Given the description of an element on the screen output the (x, y) to click on. 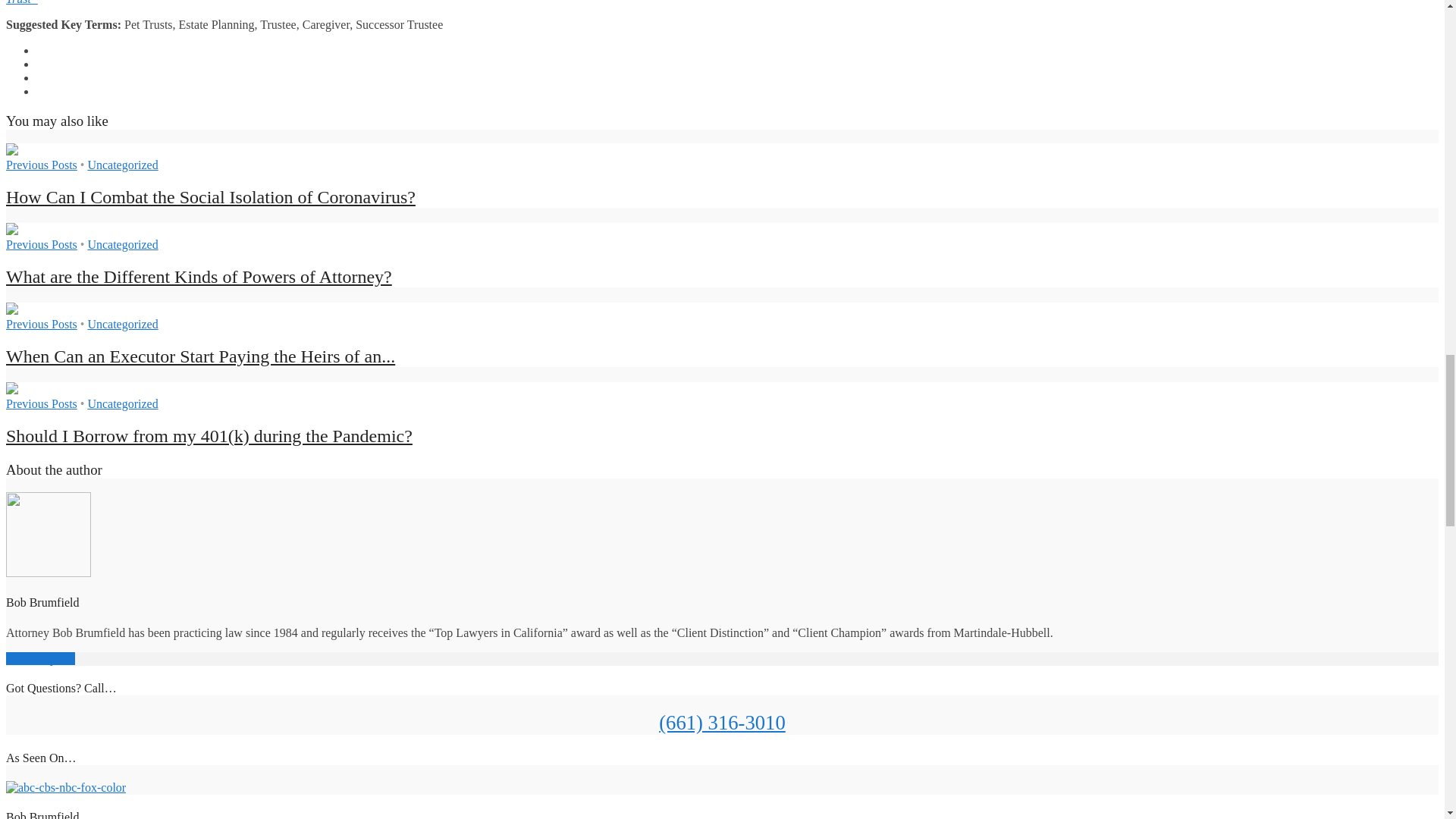
How Can I Combat the Social Isolation of Coronavirus? (209, 197)
How Can I Combat the Social Isolation of Coronavirus? (11, 151)
When Can an Executor Start Paying the Heirs of an Estate? (11, 309)
What are the Different Kinds of Powers of Attorney? (198, 276)
Previous Posts (41, 244)
How Can I Combat the Social Isolation of Coronavirus? (209, 197)
Previous Posts (41, 164)
What are the Different Kinds of Powers of Attorney? (11, 230)
When Can an Executor Start Paying the Heirs of an Estate? (199, 356)
Uncategorized (122, 164)
